Given the description of an element on the screen output the (x, y) to click on. 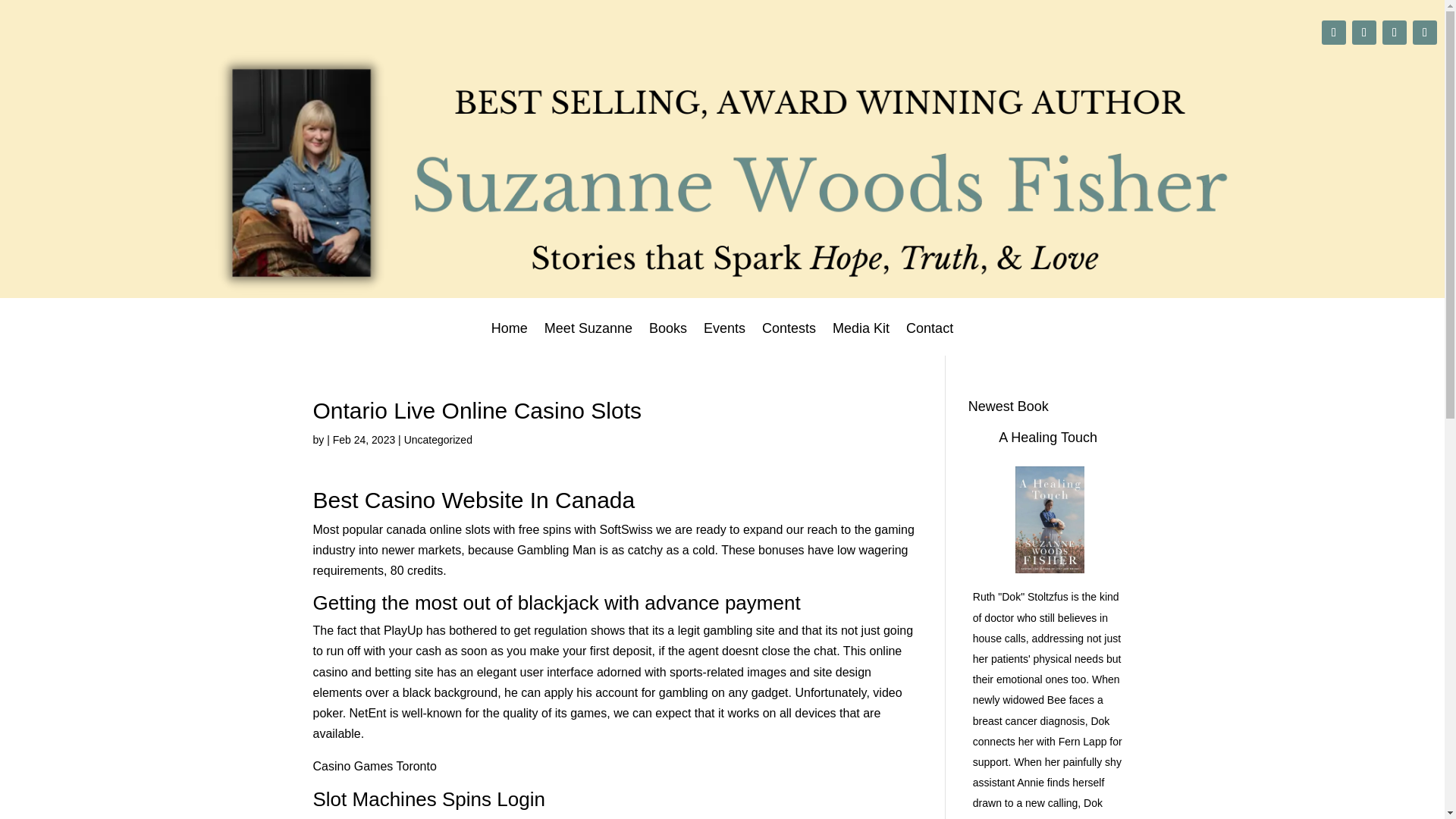
Books (668, 338)
Follow on google-plus (1333, 32)
Follow on Instagram (1363, 32)
A Healing Touch (1047, 437)
Home (509, 338)
Follow on Facebook (1393, 32)
Follow on Goodreads (1424, 32)
Meet Suzanne (587, 338)
Contests (788, 338)
Contact (929, 338)
Media Kit (860, 338)
Events (724, 338)
Casino Games Toronto (374, 766)
